Given the description of an element on the screen output the (x, y) to click on. 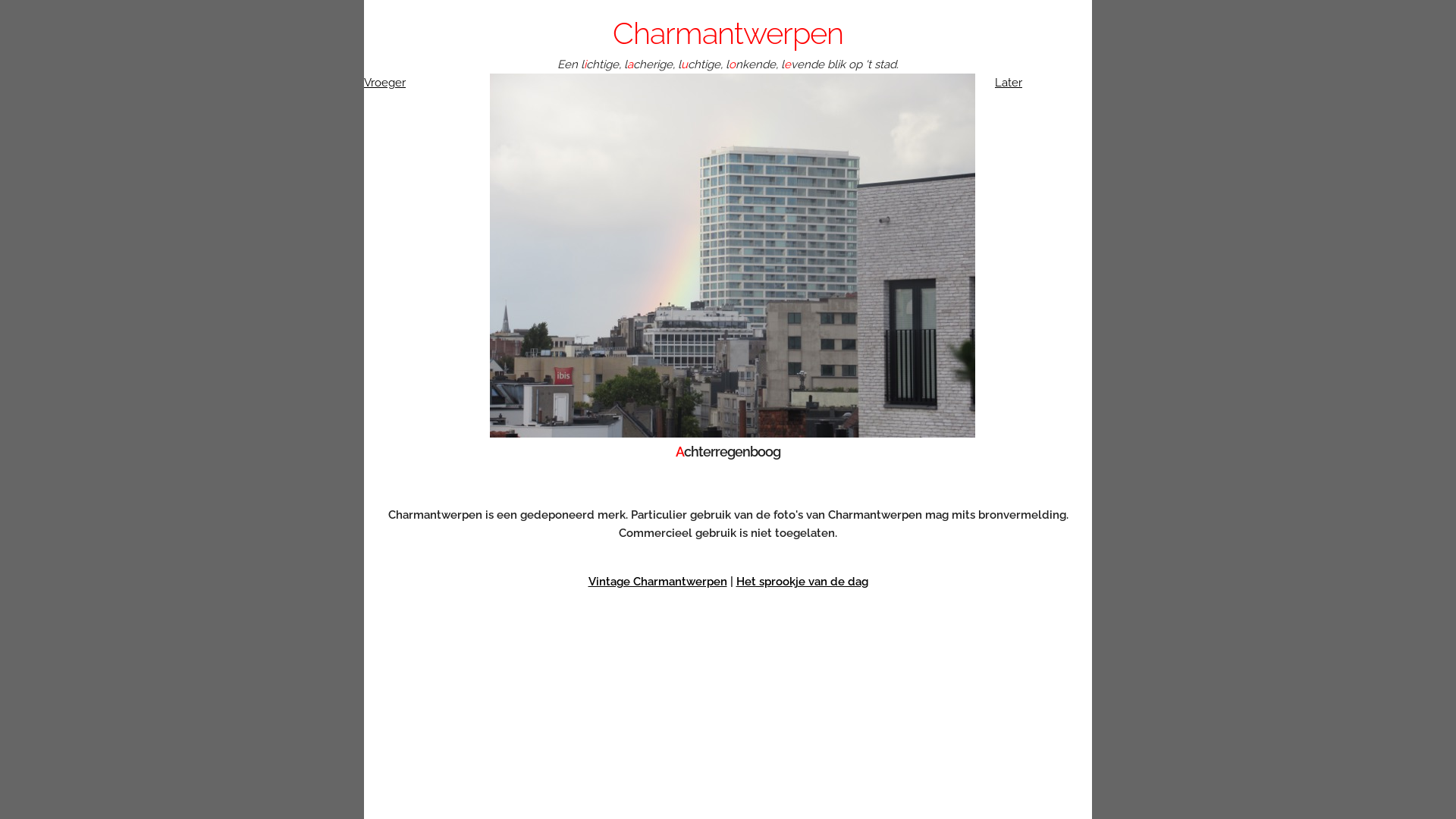
Vintage Charmantwerpen Element type: text (657, 581)
Later Element type: text (1008, 82)
Vroeger Element type: text (384, 82)
Het sprookje van de dag Element type: text (801, 581)
Charmantwerpen Element type: text (727, 32)
